Given the description of an element on the screen output the (x, y) to click on. 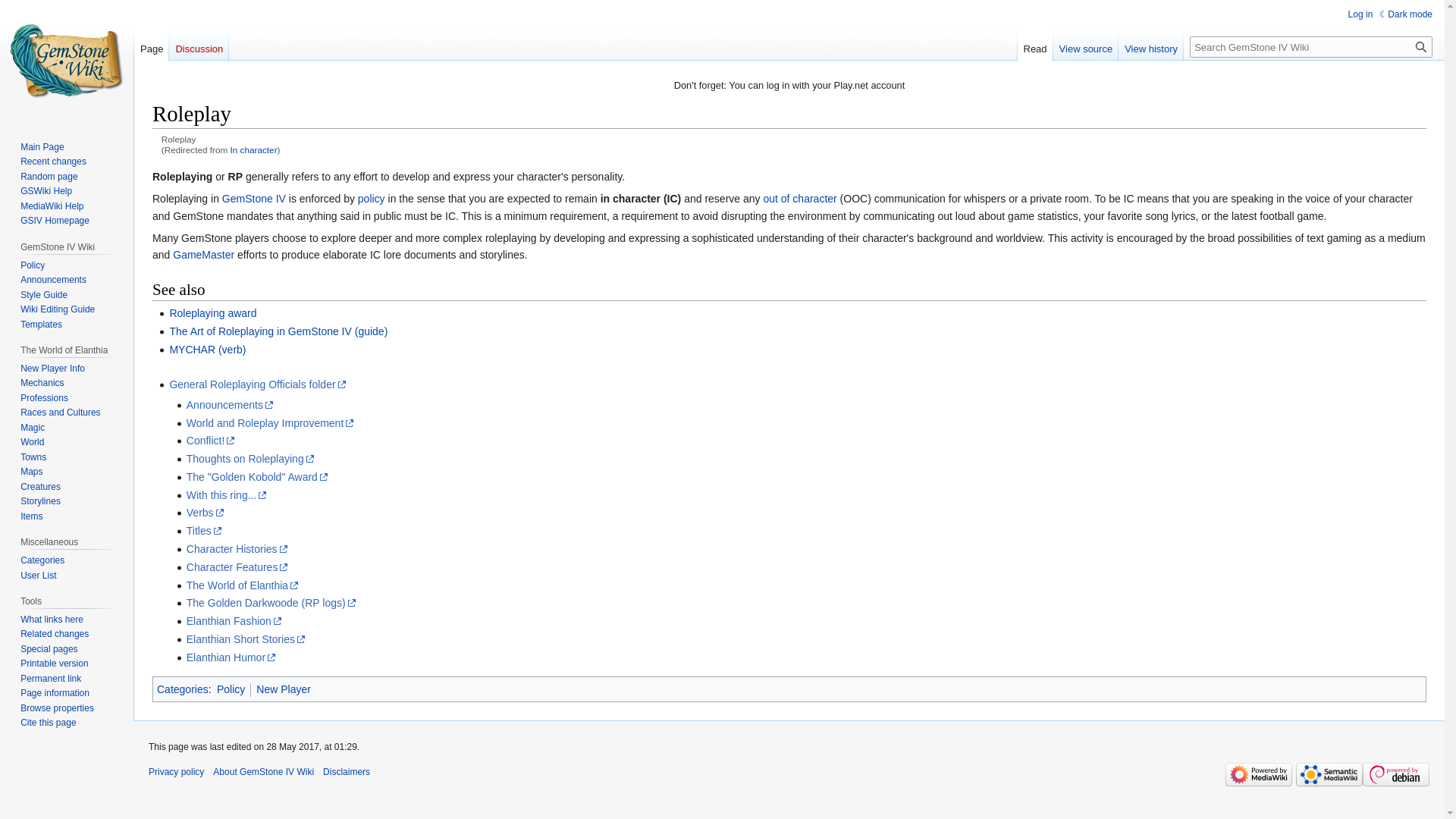
The "Golden Kobold" Award (257, 476)
Category:New Player (283, 689)
out of character (798, 198)
Read (1034, 45)
View history (1150, 45)
View source (1085, 45)
Verbs (205, 512)
policy (371, 198)
Search (1420, 46)
